Given the description of an element on the screen output the (x, y) to click on. 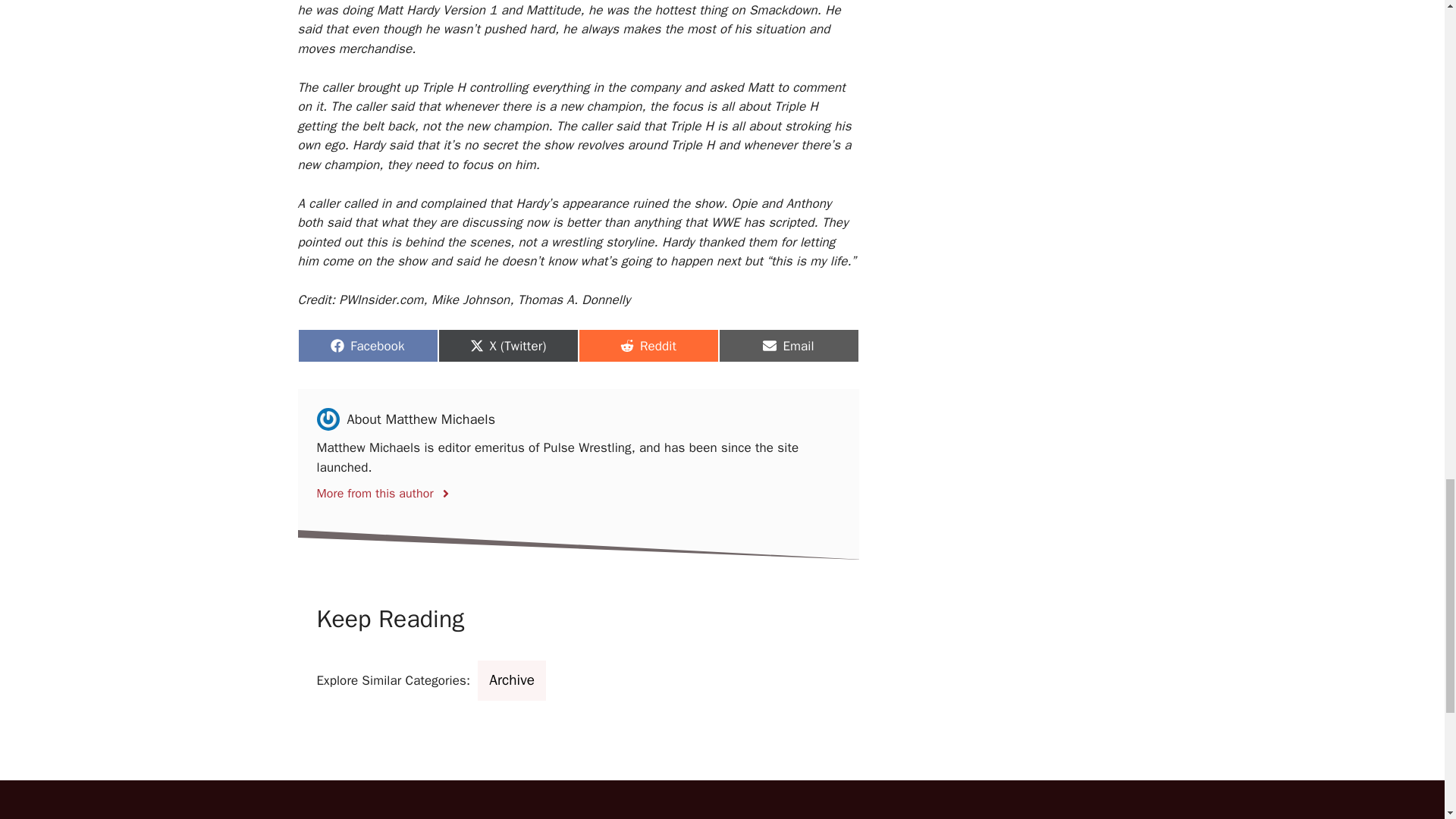
More from this author (789, 345)
